Given the description of an element on the screen output the (x, y) to click on. 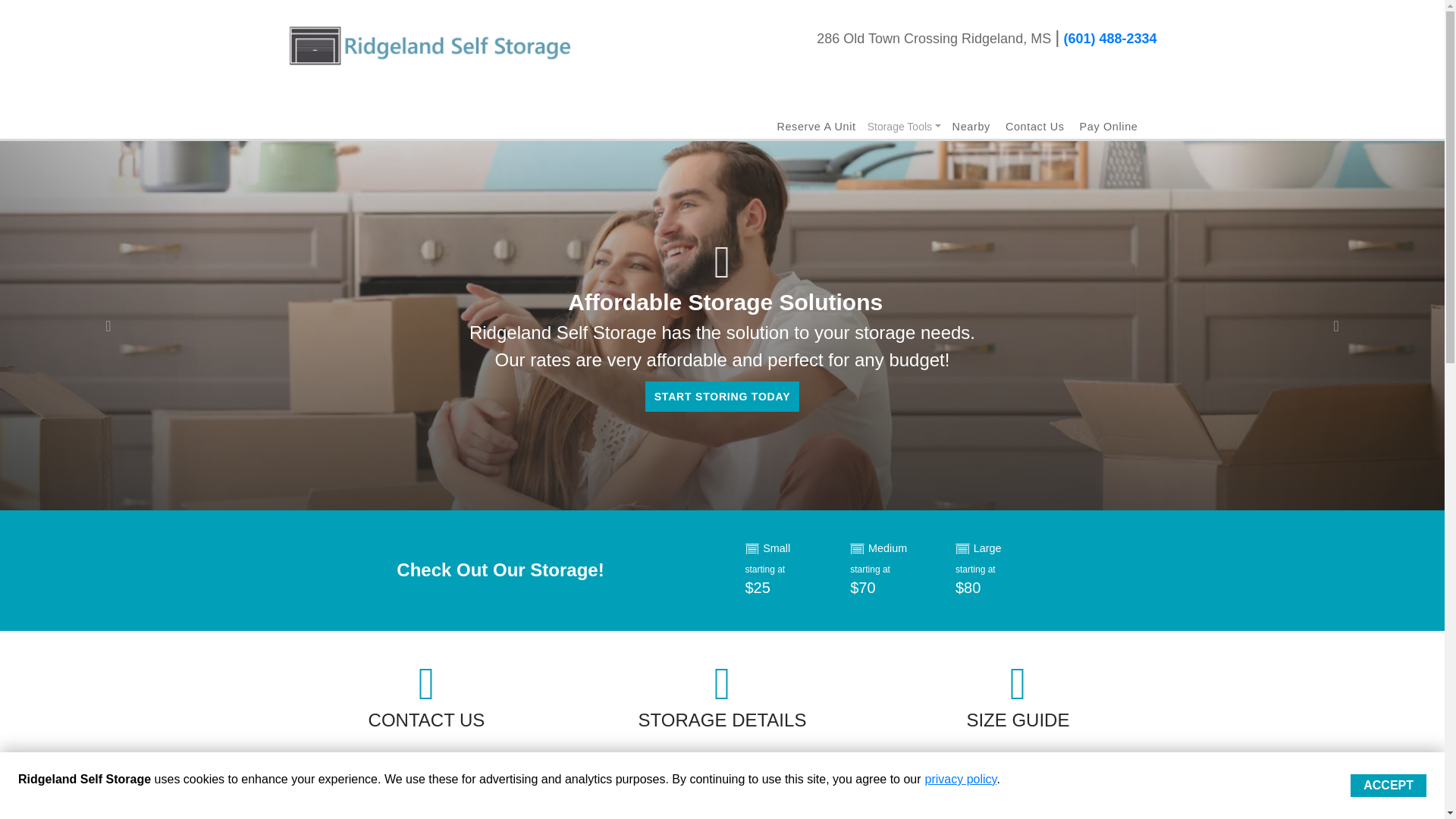
Reserve A Unit (816, 126)
Ridgeland Self Storage (430, 45)
Nearby (971, 126)
Storage Tools (903, 126)
Zoom in (310, 812)
Contact Us (1035, 126)
START STORING TODAY (722, 396)
STORAGE DETAILS (722, 722)
CONTACT US (426, 722)
SIZE GUIDE (1017, 722)
